Given the description of an element on the screen output the (x, y) to click on. 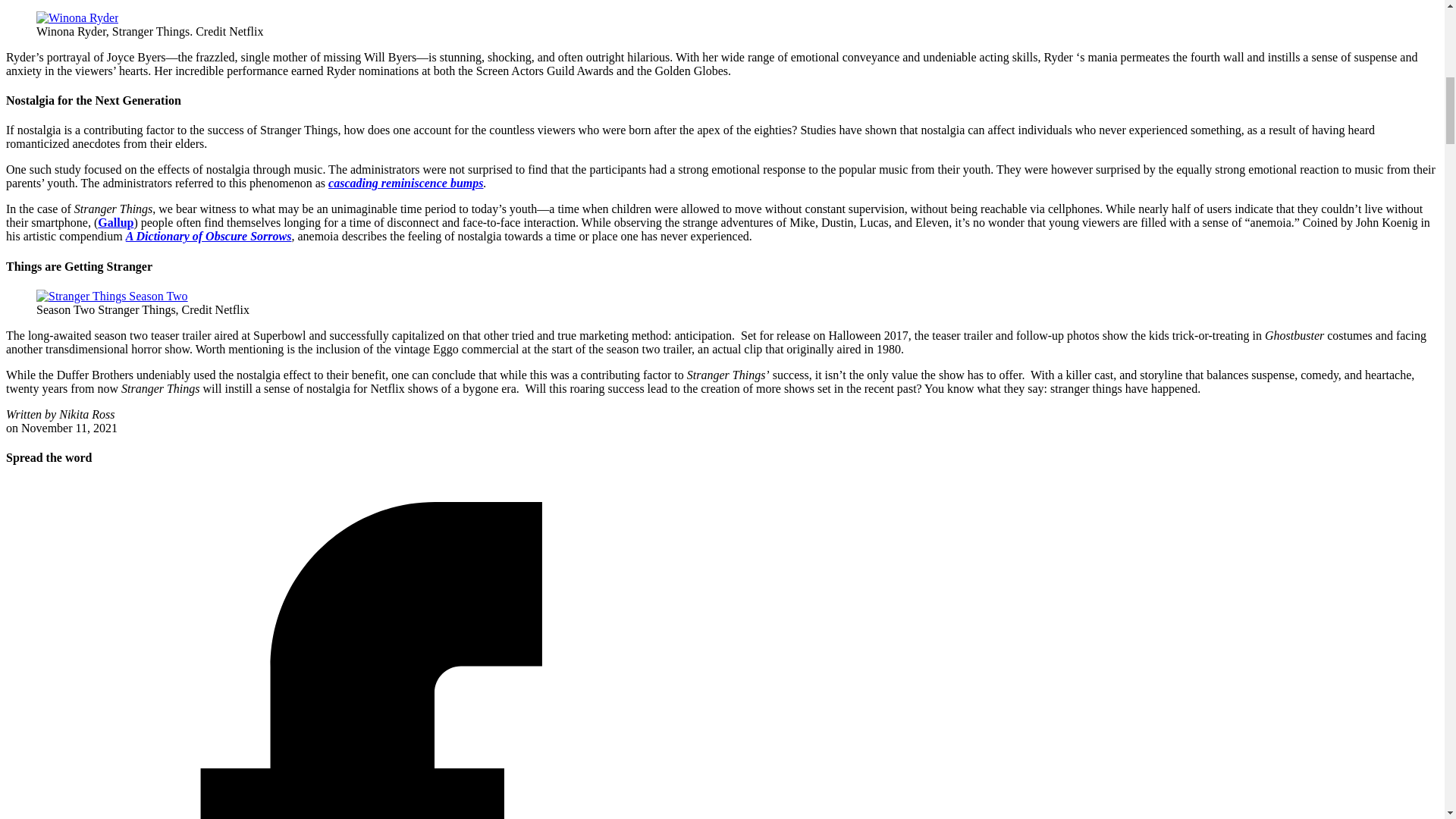
November 11, 2021 (69, 427)
cascading reminiscence bumps (406, 182)
A Dictionary of Obscure Sorrows (208, 236)
Gallup (115, 222)
